Given the description of an element on the screen output the (x, y) to click on. 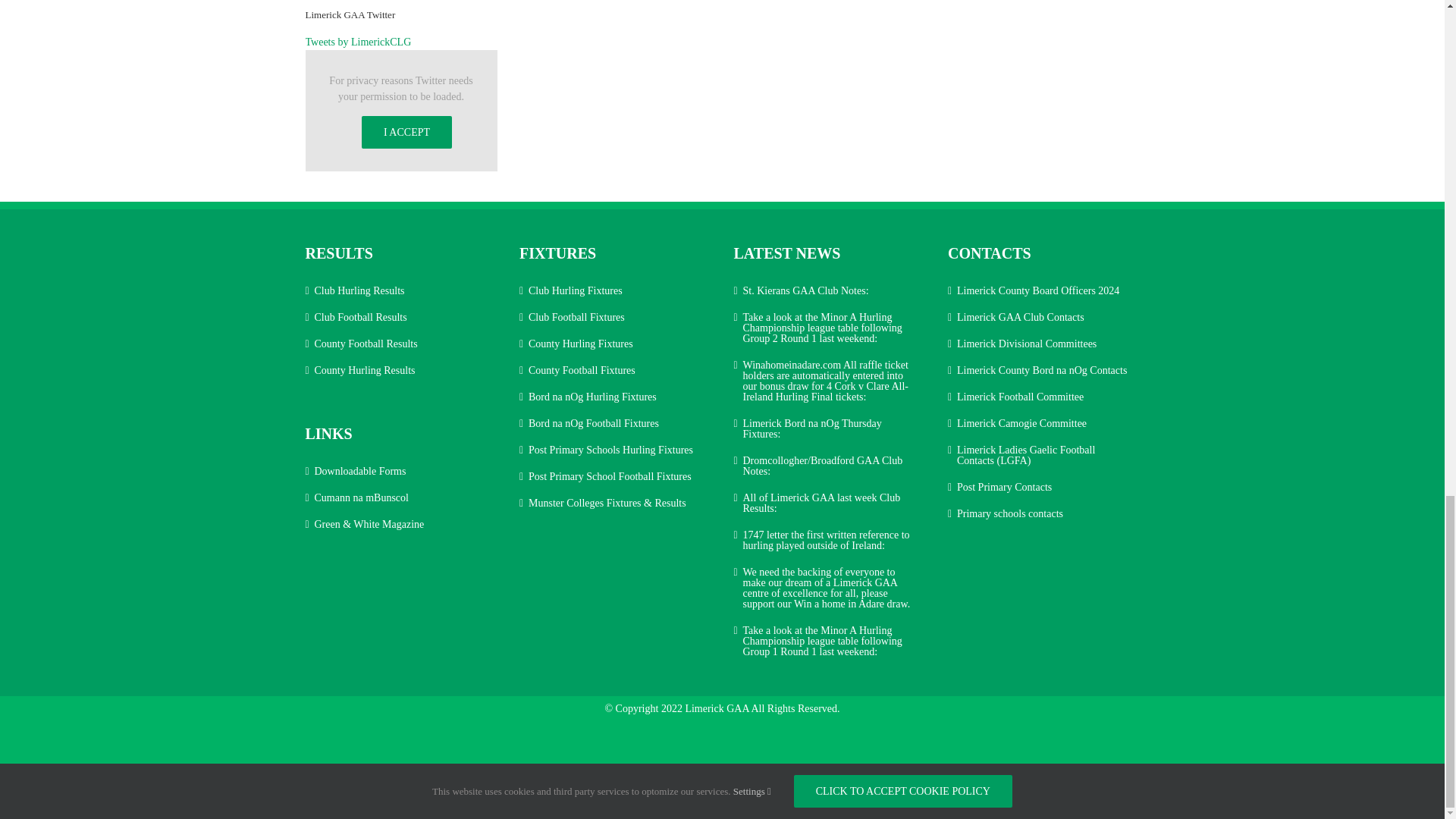
Twitter (732, 799)
Facebook (691, 799)
Instagram (711, 799)
